Given the description of an element on the screen output the (x, y) to click on. 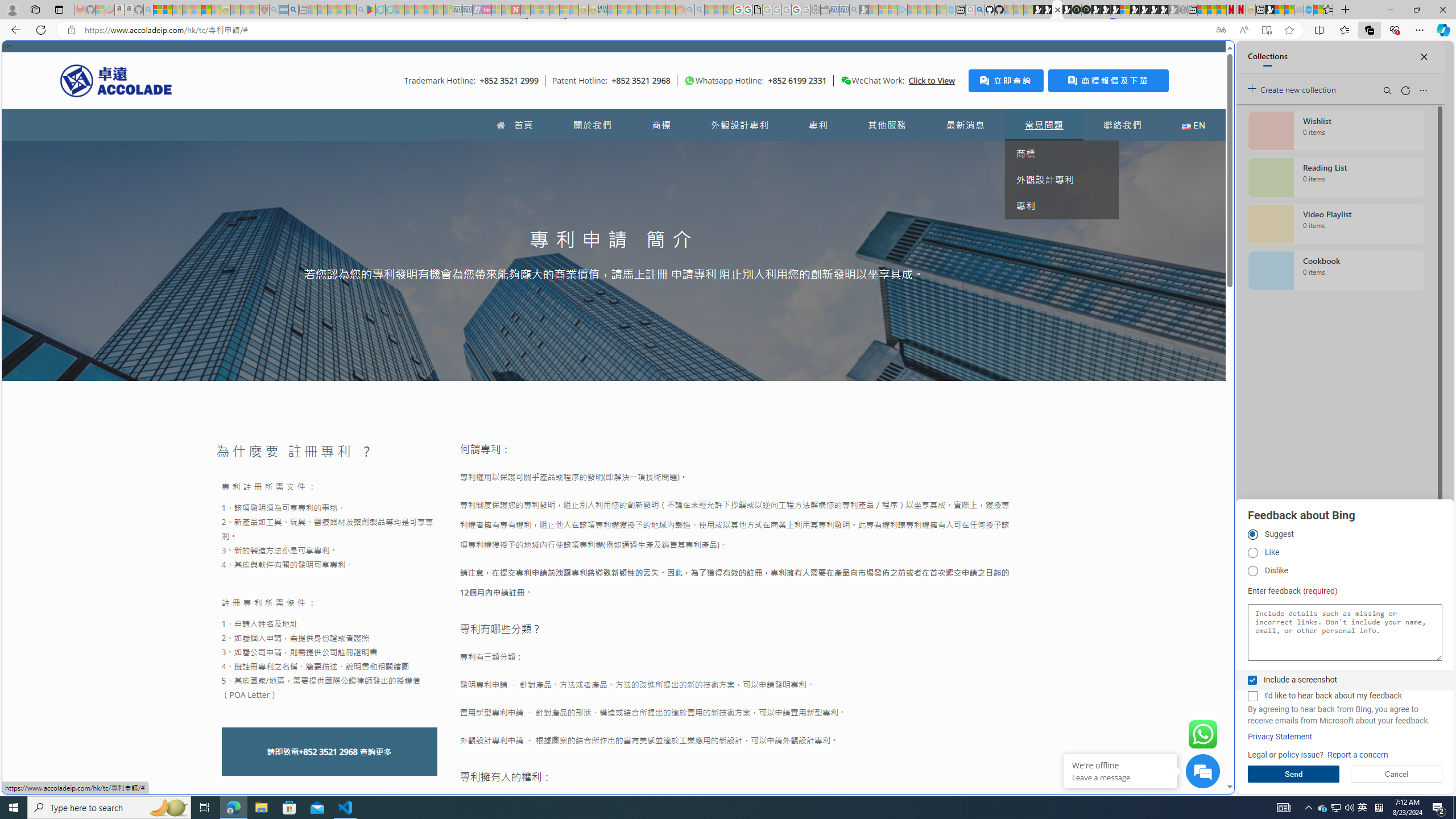
utah sues federal government - Search (292, 9)
DITOGAMES AG Imprint (602, 9)
Local - MSN - Sleeping (254, 9)
Show translate options (1220, 29)
Play Cave FRVR in your browser | Games from Microsoft Start (1105, 9)
Play Zoo Boom in your browser | Games from Microsoft Start (1047, 9)
